Given the description of an element on the screen output the (x, y) to click on. 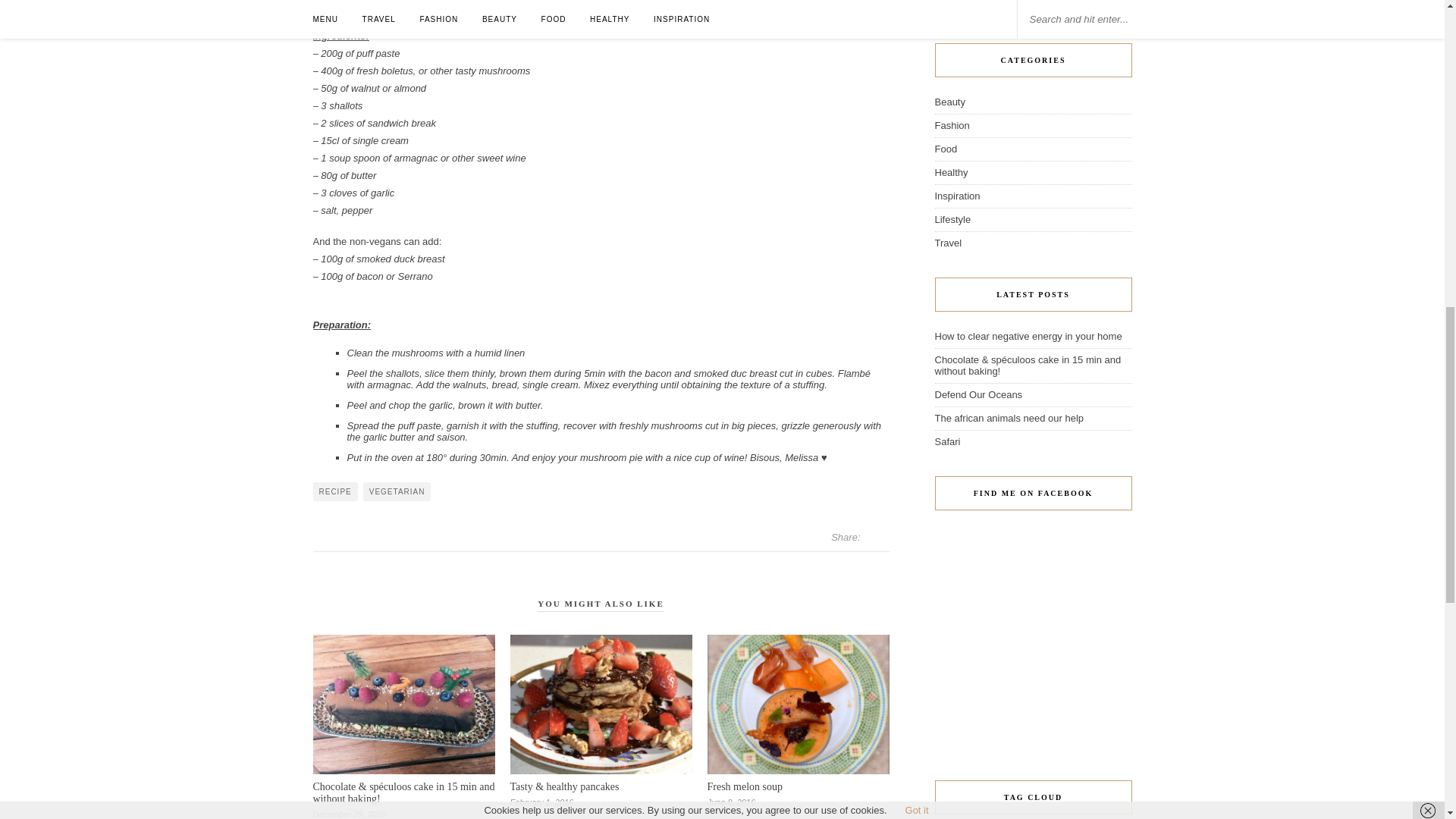
Fresh melon soup (744, 786)
VEGETARIAN (396, 491)
RECIPE (334, 491)
